Given the description of an element on the screen output the (x, y) to click on. 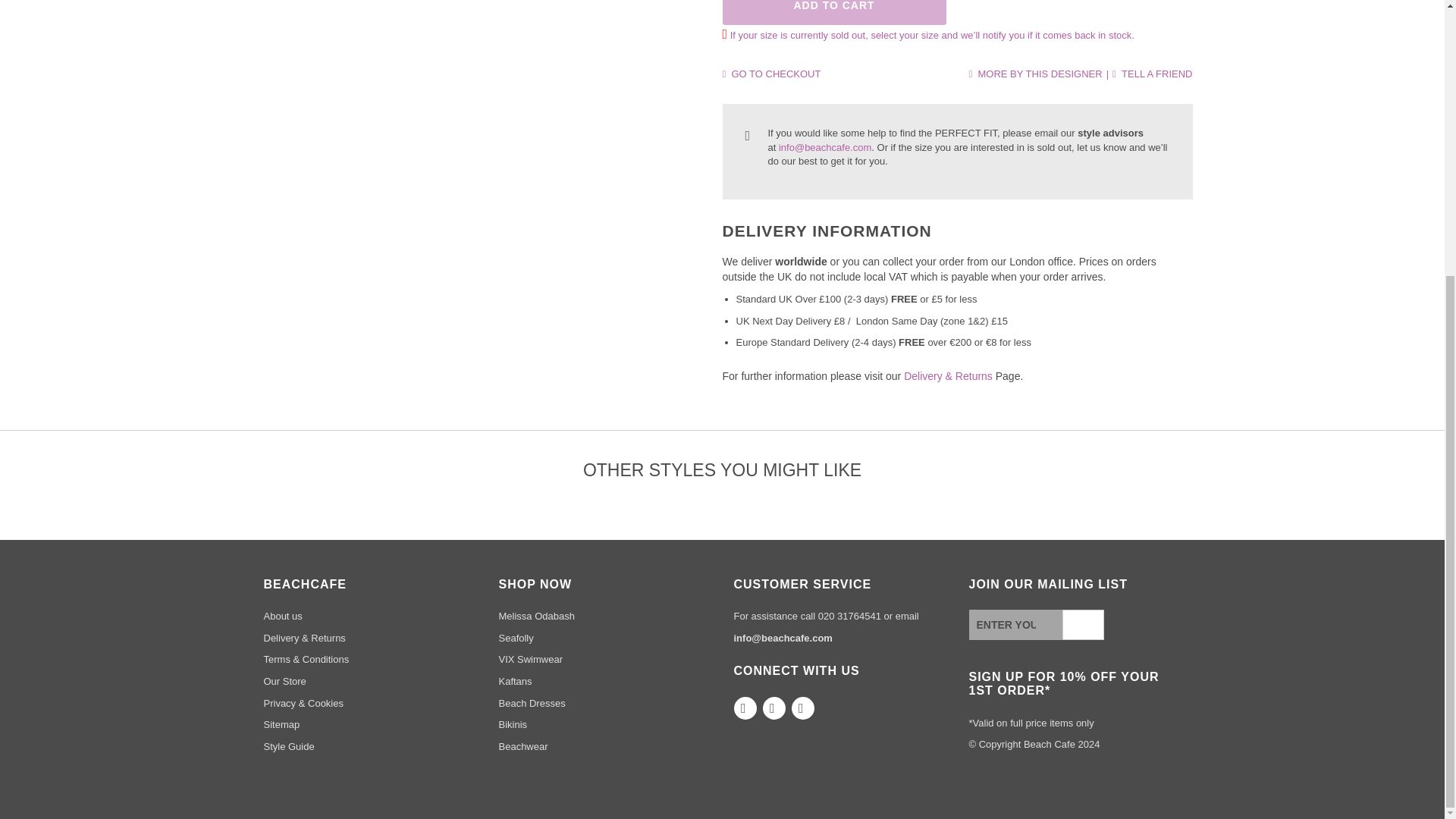
More by this designer (1035, 73)
Go to Checkout (771, 73)
Add to Cart (833, 12)
Tell a Friend (1152, 73)
